Given the description of an element on the screen output the (x, y) to click on. 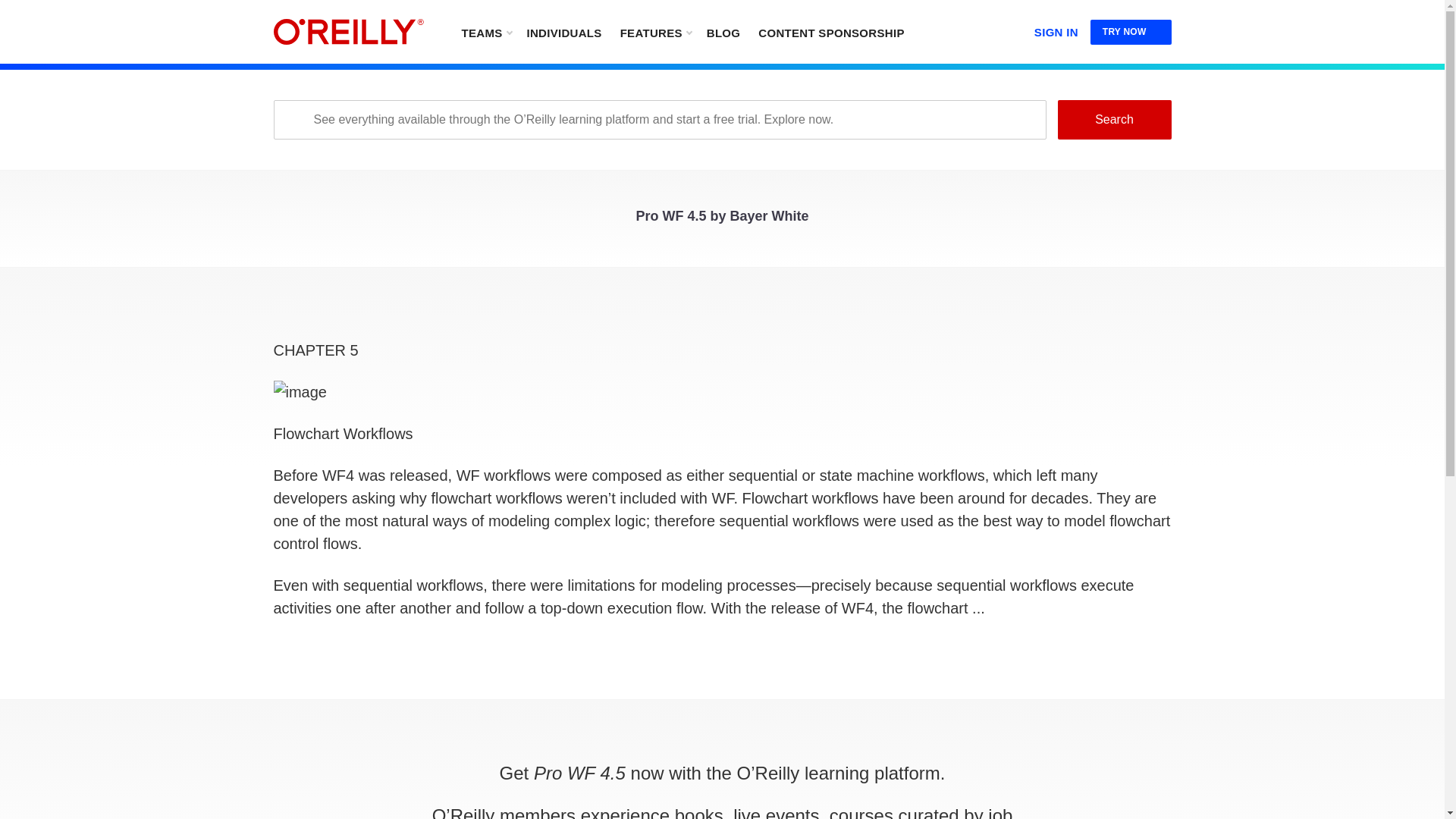
Search (1113, 119)
Search (1113, 119)
FEATURES (655, 31)
TRY NOW (1131, 32)
TEAMS (486, 31)
SIGN IN (1055, 29)
INDIVIDUALS (563, 31)
Pro WF 4.5 by Bayer White (721, 219)
CONTENT SPONSORSHIP (831, 31)
BLOG (723, 31)
